Given the description of an element on the screen output the (x, y) to click on. 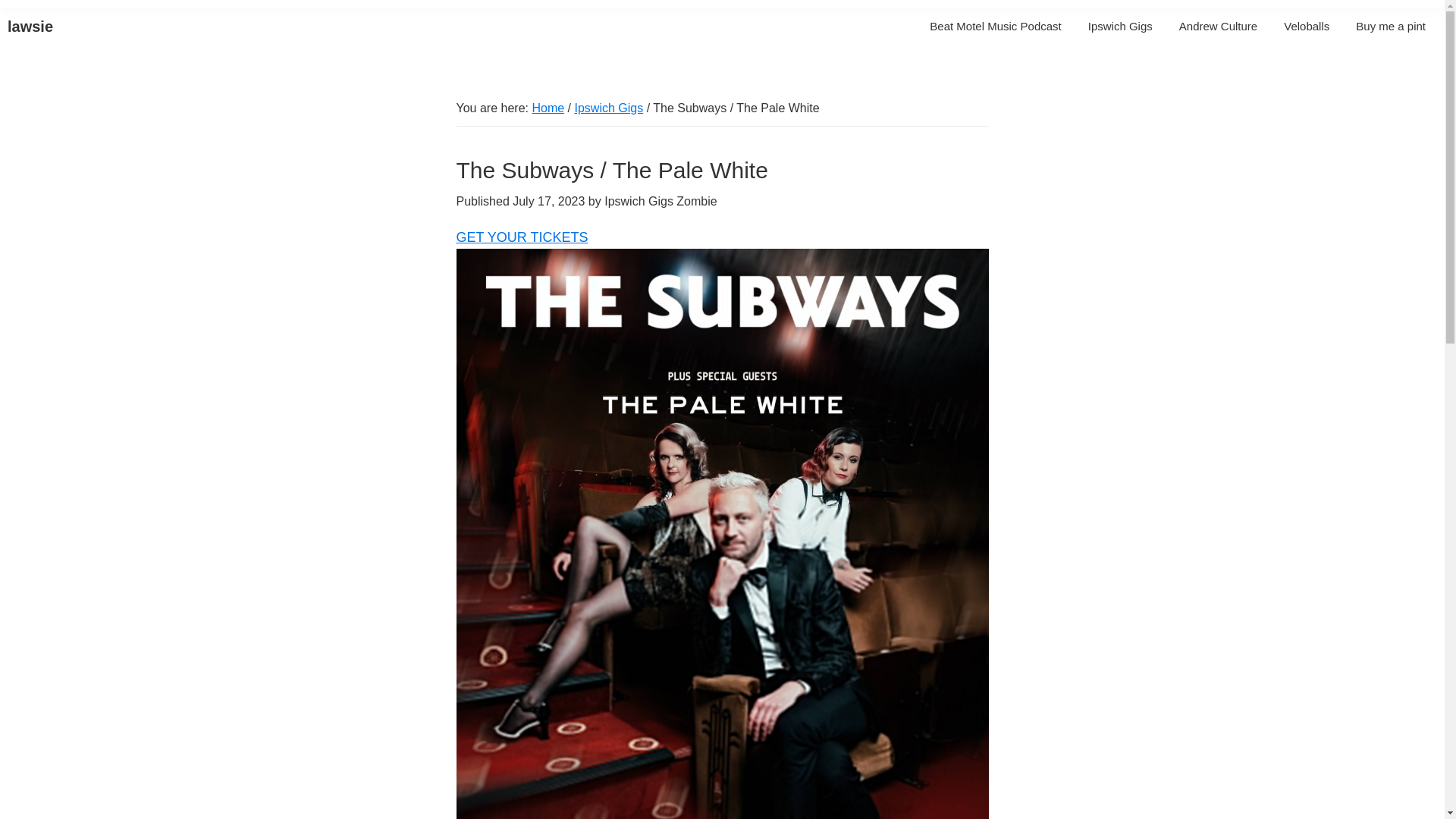
Ipswich Gigs (1120, 25)
Veloballs (1306, 25)
Home (547, 107)
GET YOUR TICKETS (522, 237)
Andrew Culture (1217, 25)
Ipswich Gigs (608, 107)
lawsie (29, 26)
Beat Motel Music Podcast (994, 25)
Buy me a pint (1390, 25)
